Given the description of an element on the screen output the (x, y) to click on. 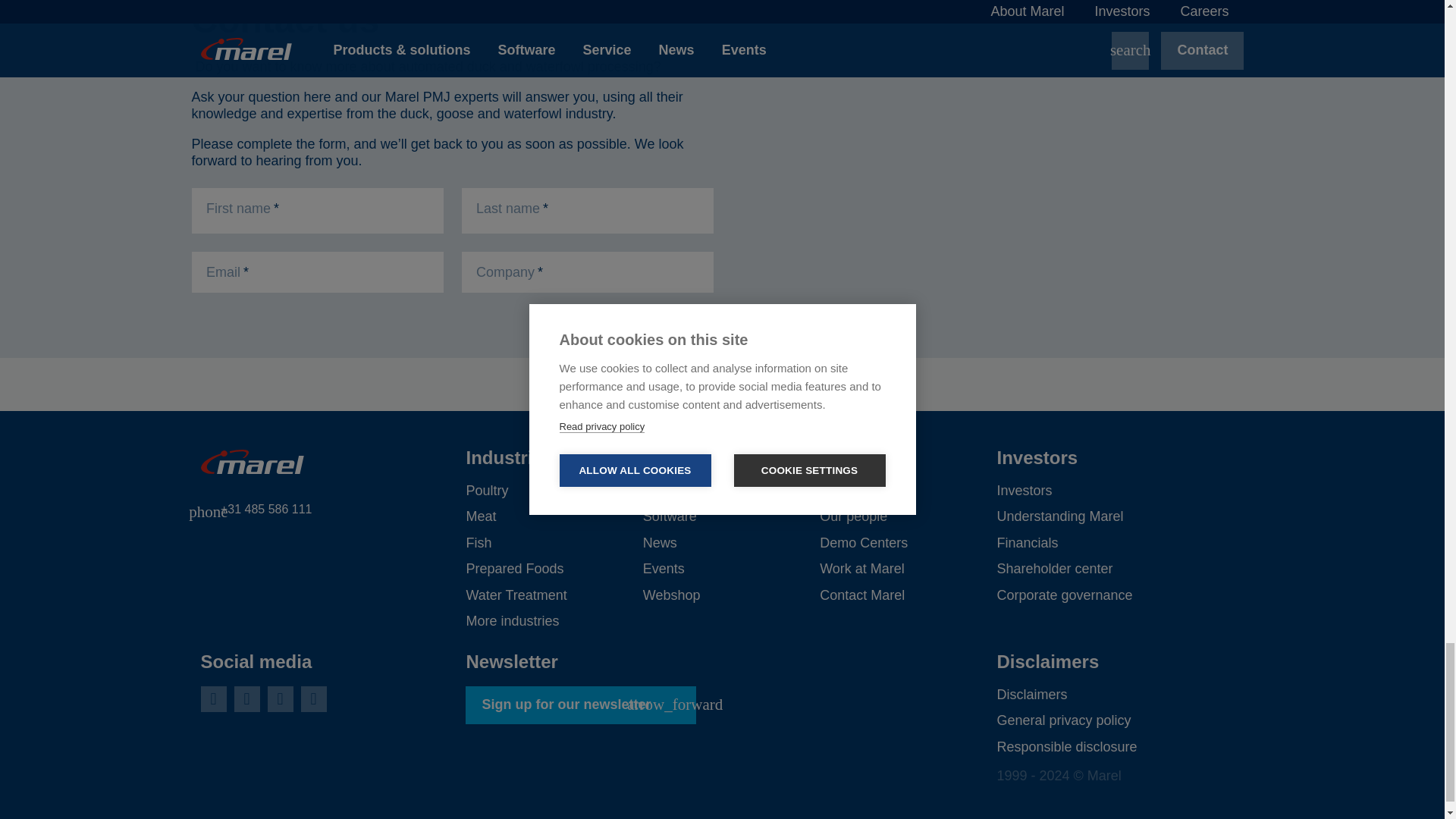
LinkedIn (212, 698)
Contact us (451, 235)
Facebook (312, 698)
Twitter (245, 698)
Youtube (279, 698)
